Given the description of an element on the screen output the (x, y) to click on. 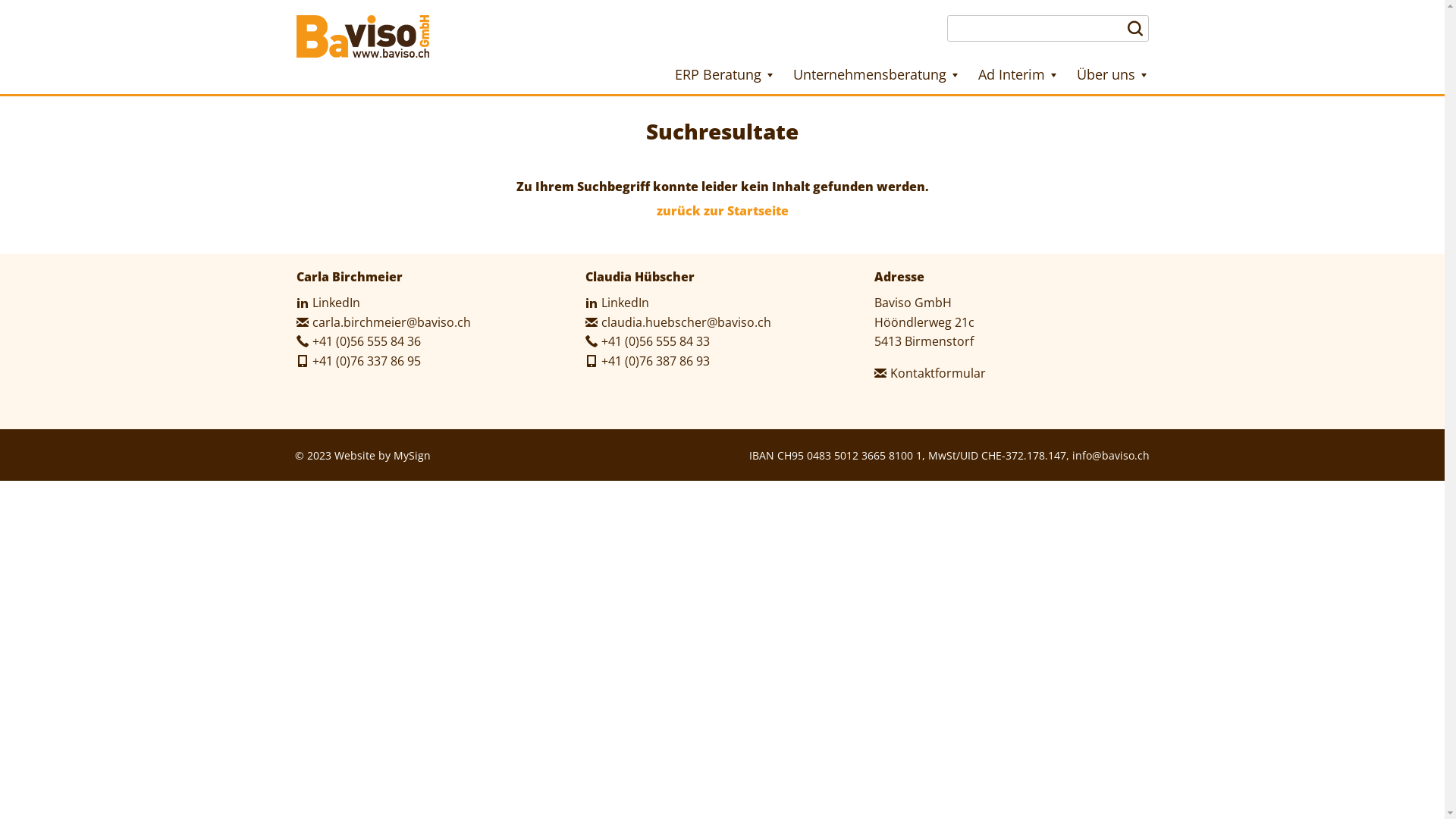
LinkedIn Element type: text (617, 302)
carla.birchmeier@baviso.ch Element type: text (382, 321)
Ad Interim Element type: text (1018, 74)
Website by MySign Element type: text (382, 455)
Kontaktformular Element type: text (929, 372)
ERP Beratung Element type: text (724, 74)
Unternehmensberatung Element type: text (876, 74)
claudia.huebscher@baviso.ch Element type: text (678, 321)
info@baviso.ch Element type: text (1110, 455)
Baviso GmbH Element type: hover (361, 36)
LinkedIn Element type: text (327, 302)
